Given the description of an element on the screen output the (x, y) to click on. 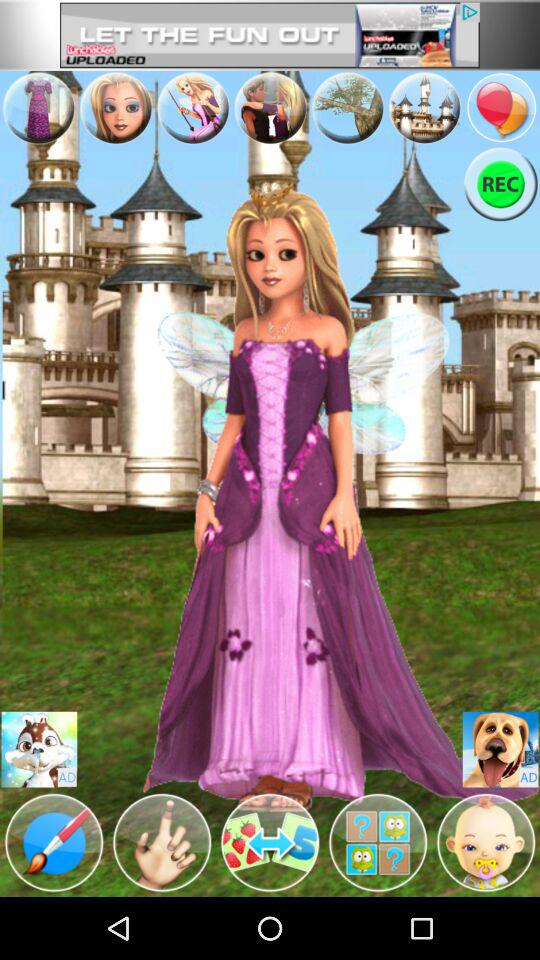
advertisement (270, 35)
